Given the description of an element on the screen output the (x, y) to click on. 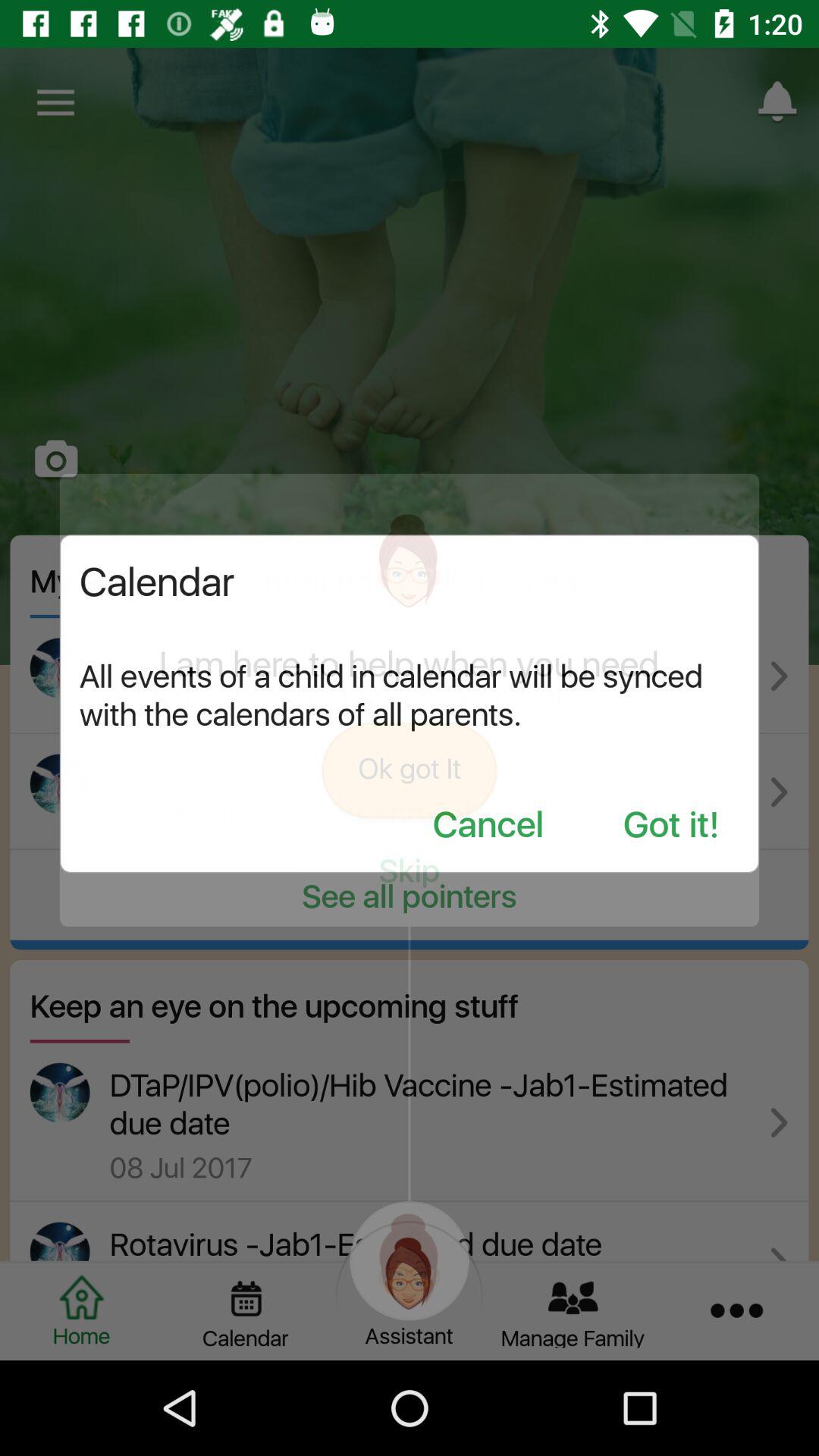
open the got it! item (671, 826)
